Given the description of an element on the screen output the (x, y) to click on. 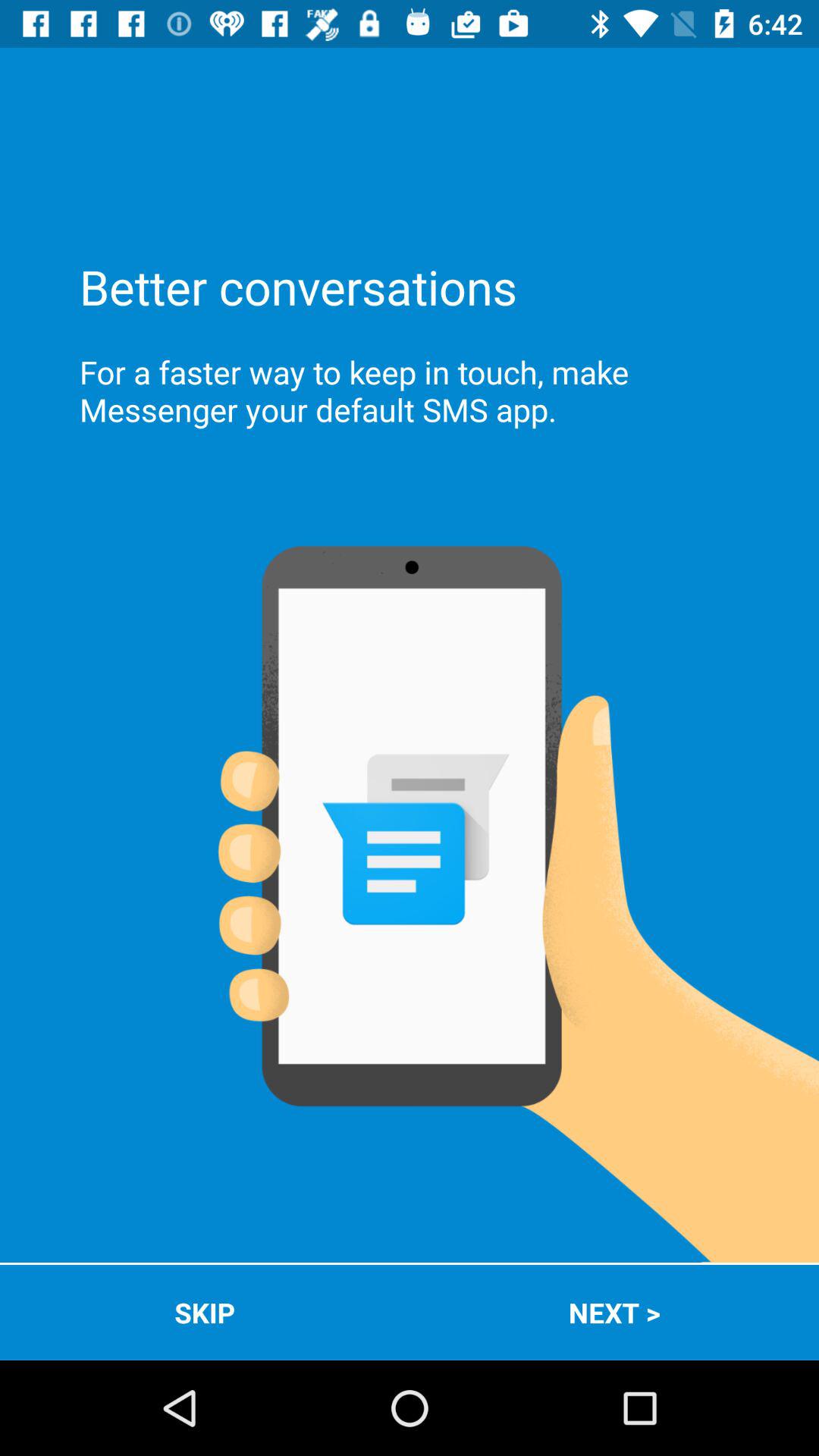
jump to next > app (614, 1312)
